Given the description of an element on the screen output the (x, y) to click on. 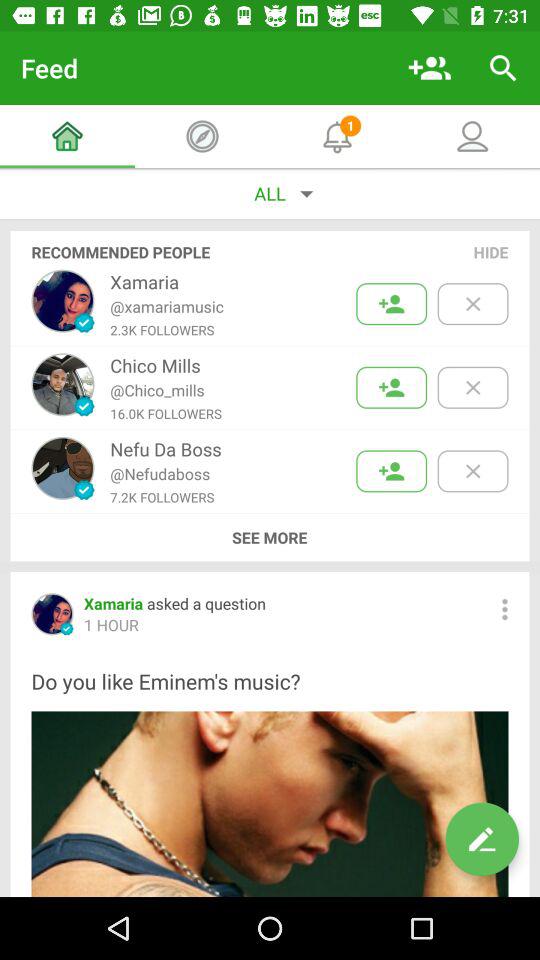
choose the icon next to the 7.2k followers item (269, 537)
